Given the description of an element on the screen output the (x, y) to click on. 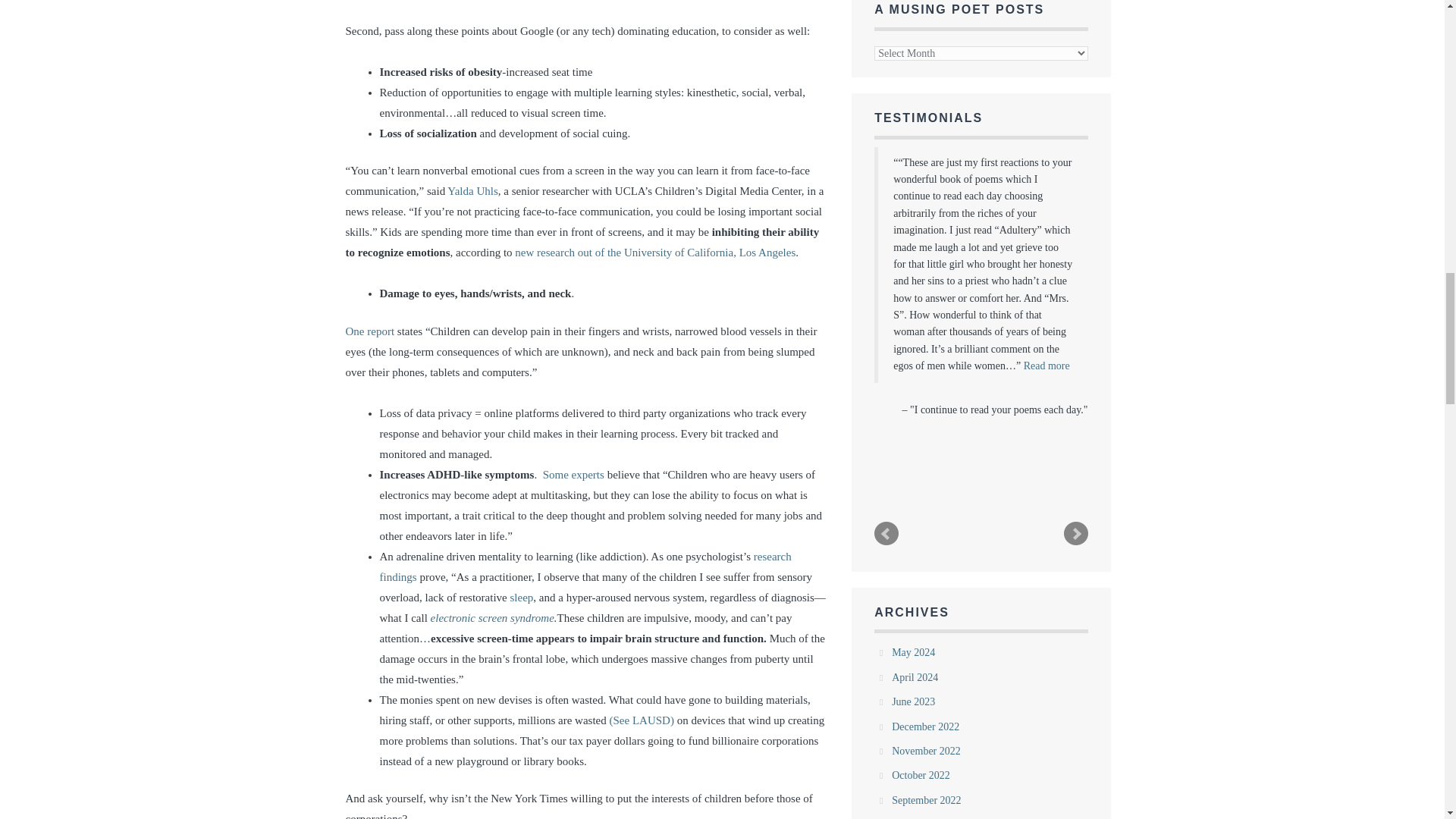
One report (371, 331)
research findings (584, 566)
Some experts (575, 474)
electronic screen syndrome (492, 617)
sleep (522, 597)
Complete testimonial by  (1046, 365)
Yalda Uhls (471, 191)
